Given the description of an element on the screen output the (x, y) to click on. 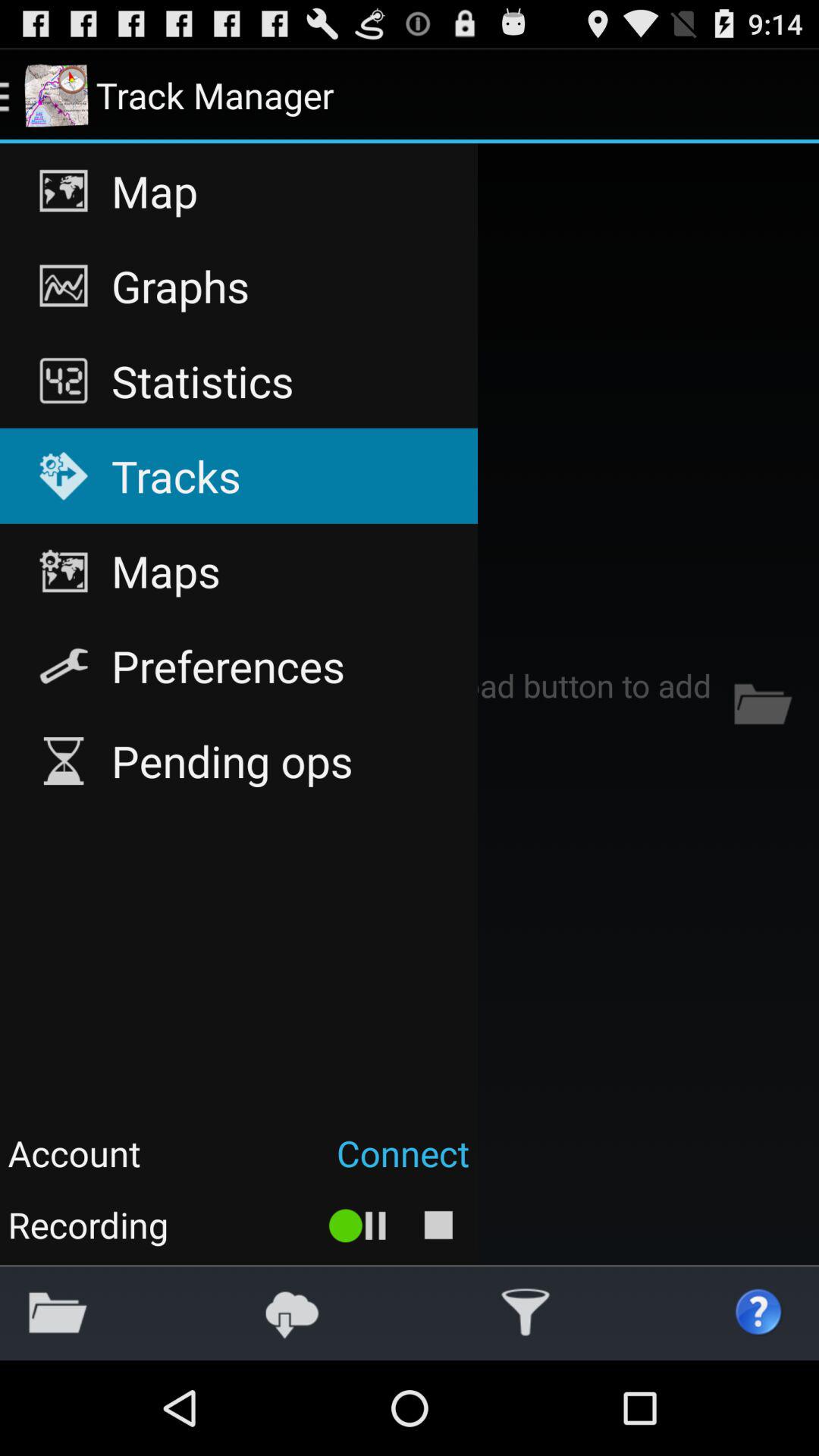
turn off icon above tracks (238, 380)
